Given the description of an element on the screen output the (x, y) to click on. 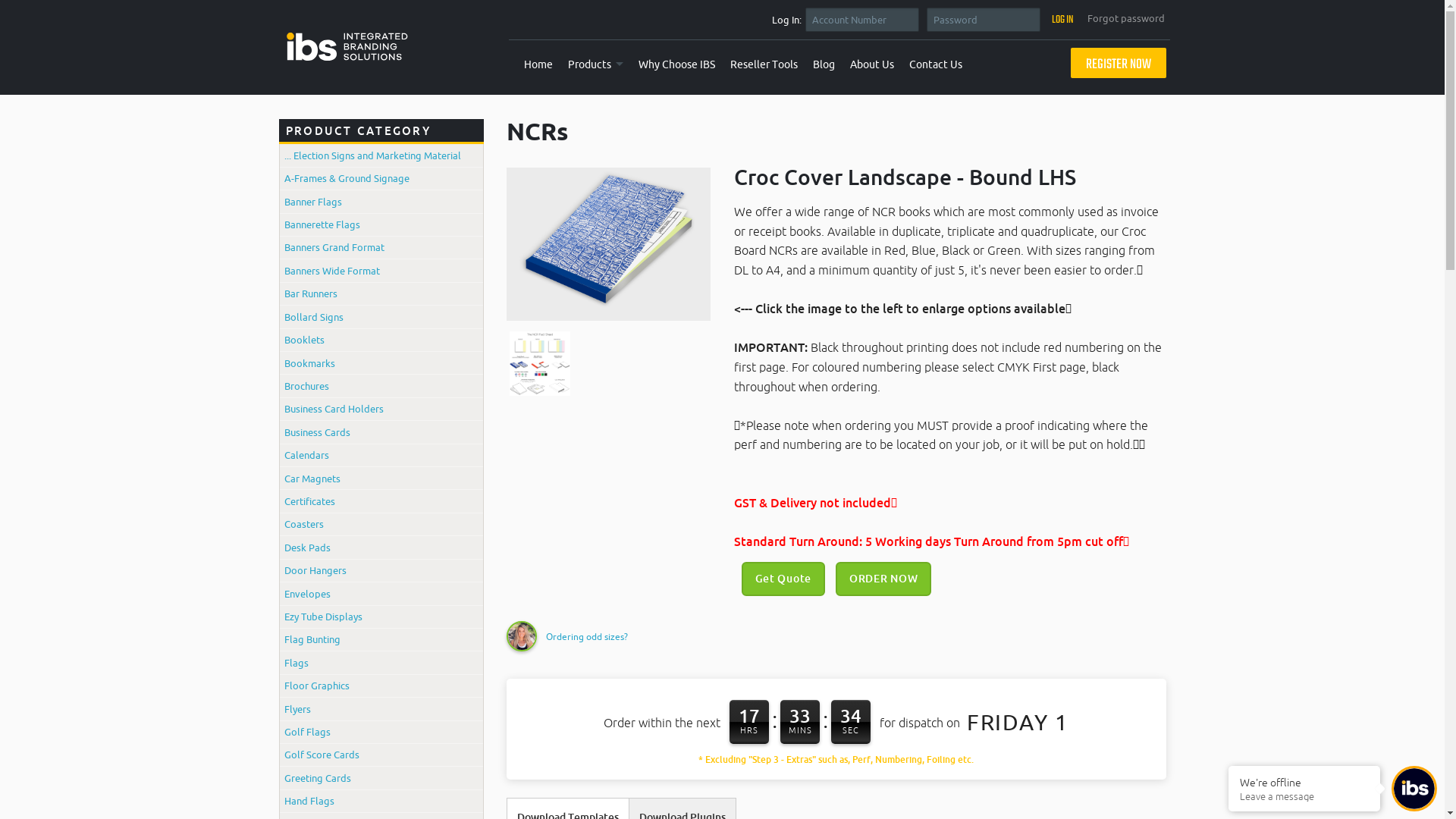
Desk Pads Element type: text (380, 547)
Home Element type: text (538, 65)
ORDER NOW Element type: text (883, 578)
REGISTER NOW Element type: text (1118, 62)
Envelopes Element type: text (380, 593)
Brochures Element type: text (380, 385)
Golf Flags Element type: text (380, 732)
Get Quote Element type: text (783, 578)
Bar Runners Element type: text (380, 293)
Banners Wide Format Element type: text (380, 270)
Bannerette Flags Element type: text (380, 224)
Flyers Element type: text (380, 708)
A-Frames & Ground Signage Element type: text (380, 178)
Business Card Holders Element type: text (380, 409)
Banners Grand Format Element type: text (380, 247)
Greeting Cards Element type: text (380, 777)
Bookmarks Element type: text (380, 362)
Booklets Element type: text (380, 340)
Floor Graphics Element type: text (380, 685)
Flags Element type: text (380, 662)
Products Element type: text (595, 65)
Why Choose IBS Element type: text (676, 65)
About Us Element type: text (872, 65)
Blog Element type: text (823, 65)
Hand Flags Element type: text (380, 801)
Golf Score Cards Element type: text (380, 754)
Car Magnets Element type: text (380, 478)
Log In Element type: text (1062, 19)
Ordering odd sizes? Element type: text (586, 636)
Bollard Signs Element type: text (380, 316)
Coasters Element type: text (380, 524)
Business Cards Element type: text (380, 431)
Certificates Element type: text (380, 500)
Calendars Element type: text (380, 455)
... Election Signs and Marketing Material Element type: text (380, 155)
Forgot password Element type: text (1125, 17)
Door Hangers Element type: text (380, 570)
Reseller Tools Element type: text (763, 65)
Banner Flags Element type: text (380, 201)
Contact Us Element type: text (935, 65)
Flag Bunting Element type: text (380, 639)
Ezy Tube Displays Element type: text (380, 616)
